Given the description of an element on the screen output the (x, y) to click on. 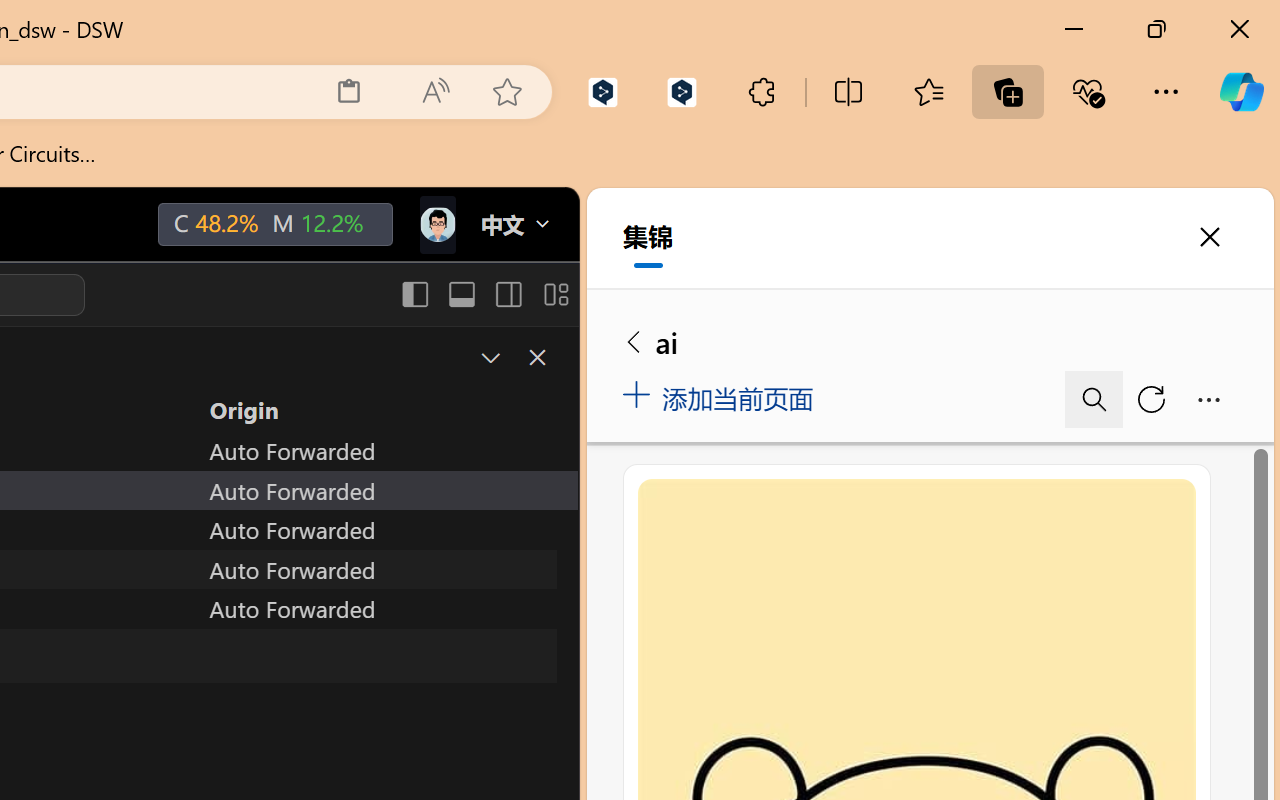
Class: actions-container (516, 358)
icon (436, 220)
Toggle Secondary Side Bar (Ctrl+Alt+B) (506, 294)
Toggle Panel (Ctrl+J) (461, 294)
Customize Layout... (553, 294)
Restore Panel Size (488, 357)
icon (436, 224)
